Given the description of an element on the screen output the (x, y) to click on. 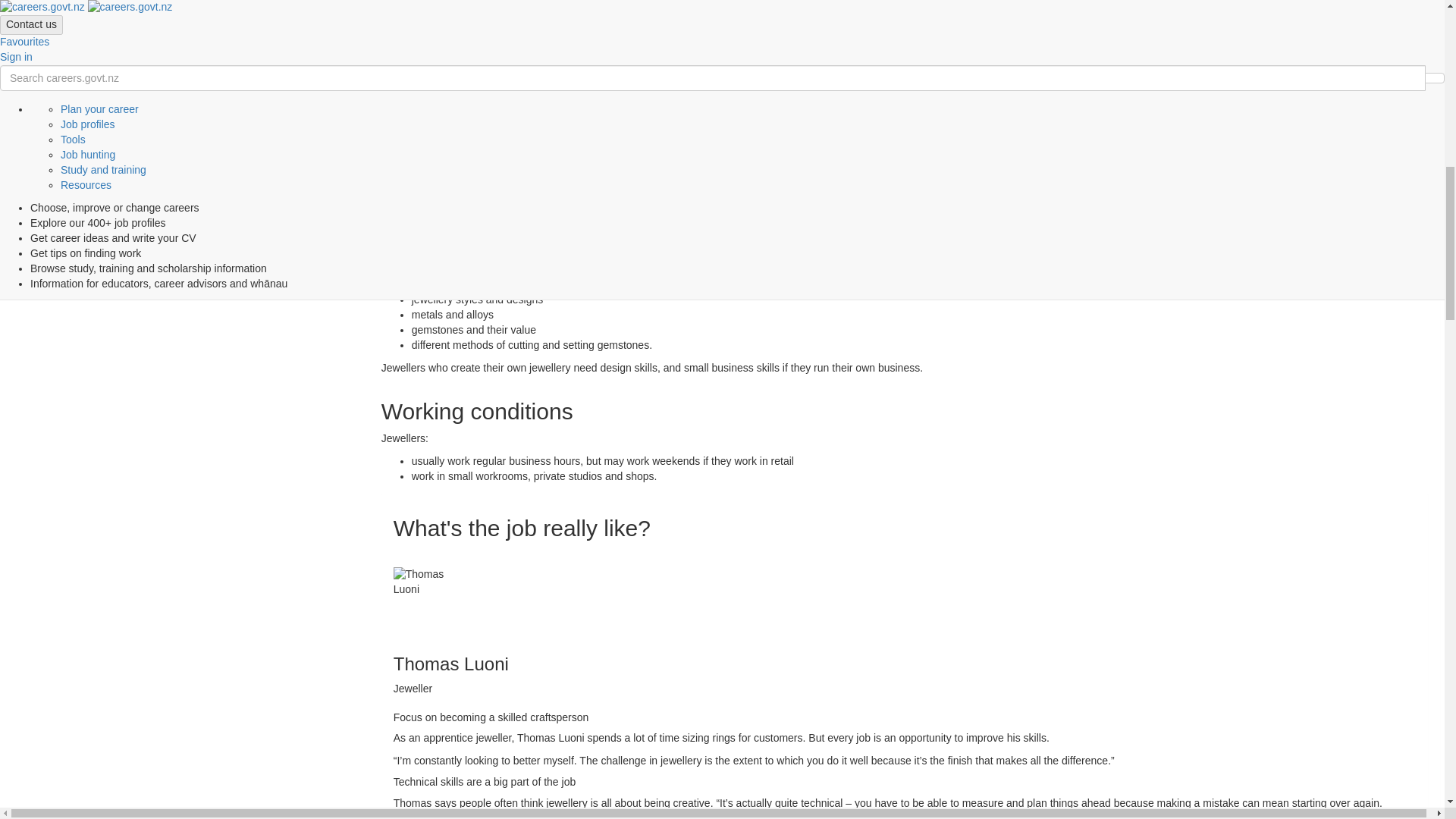
Thomas Luoni  (429, 603)
Follow link (664, 21)
